Given the description of an element on the screen output the (x, y) to click on. 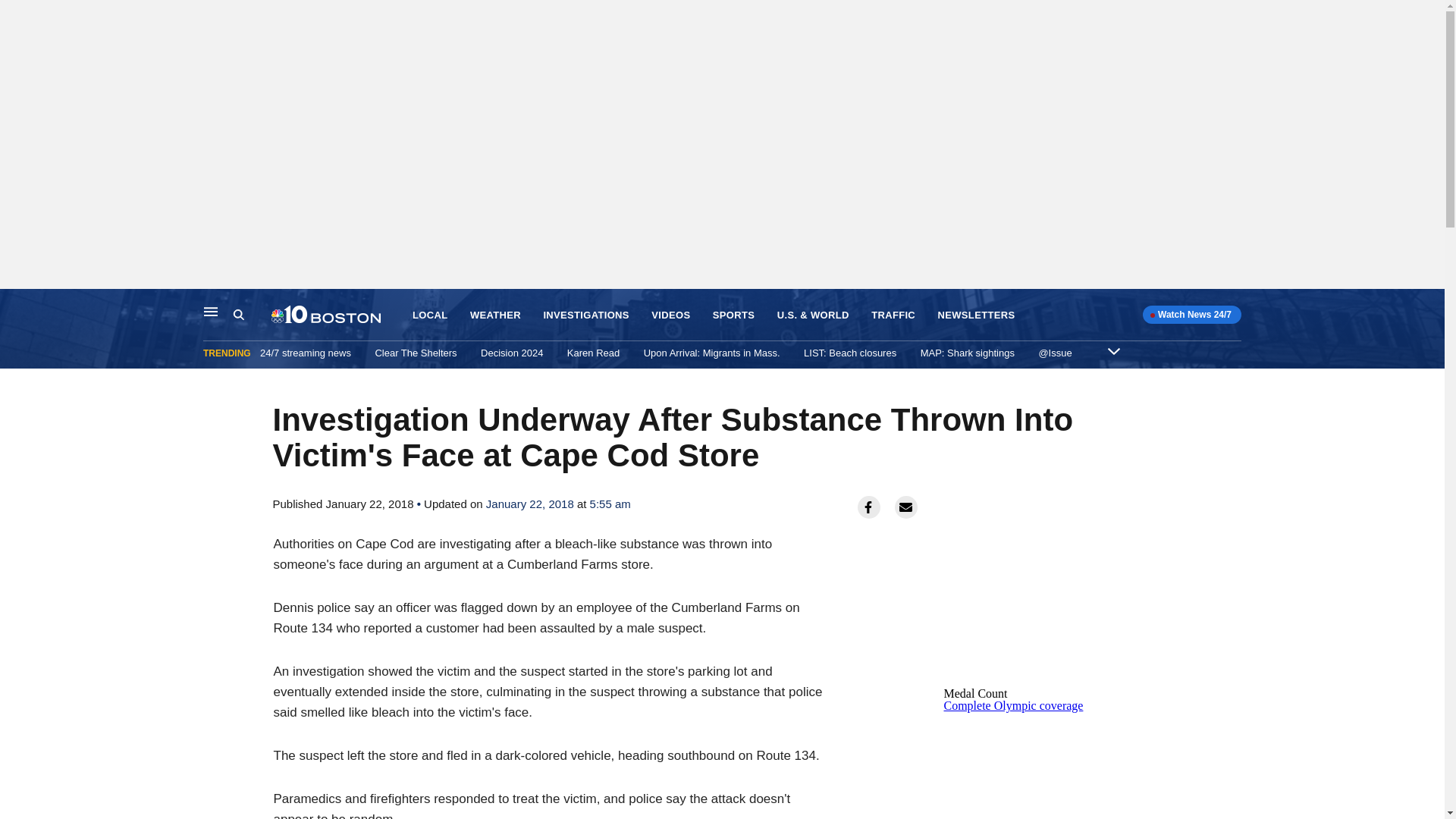
TRAFFIC (892, 315)
Skip to content (16, 304)
LIST: Beach closures (849, 352)
NEWSLETTERS (975, 315)
Upon Arrival: Migrants in Mass. (711, 352)
SPORTS (733, 315)
Expand (1113, 350)
LOCAL (429, 315)
Karen Read (593, 352)
Search (238, 314)
